Given the description of an element on the screen output the (x, y) to click on. 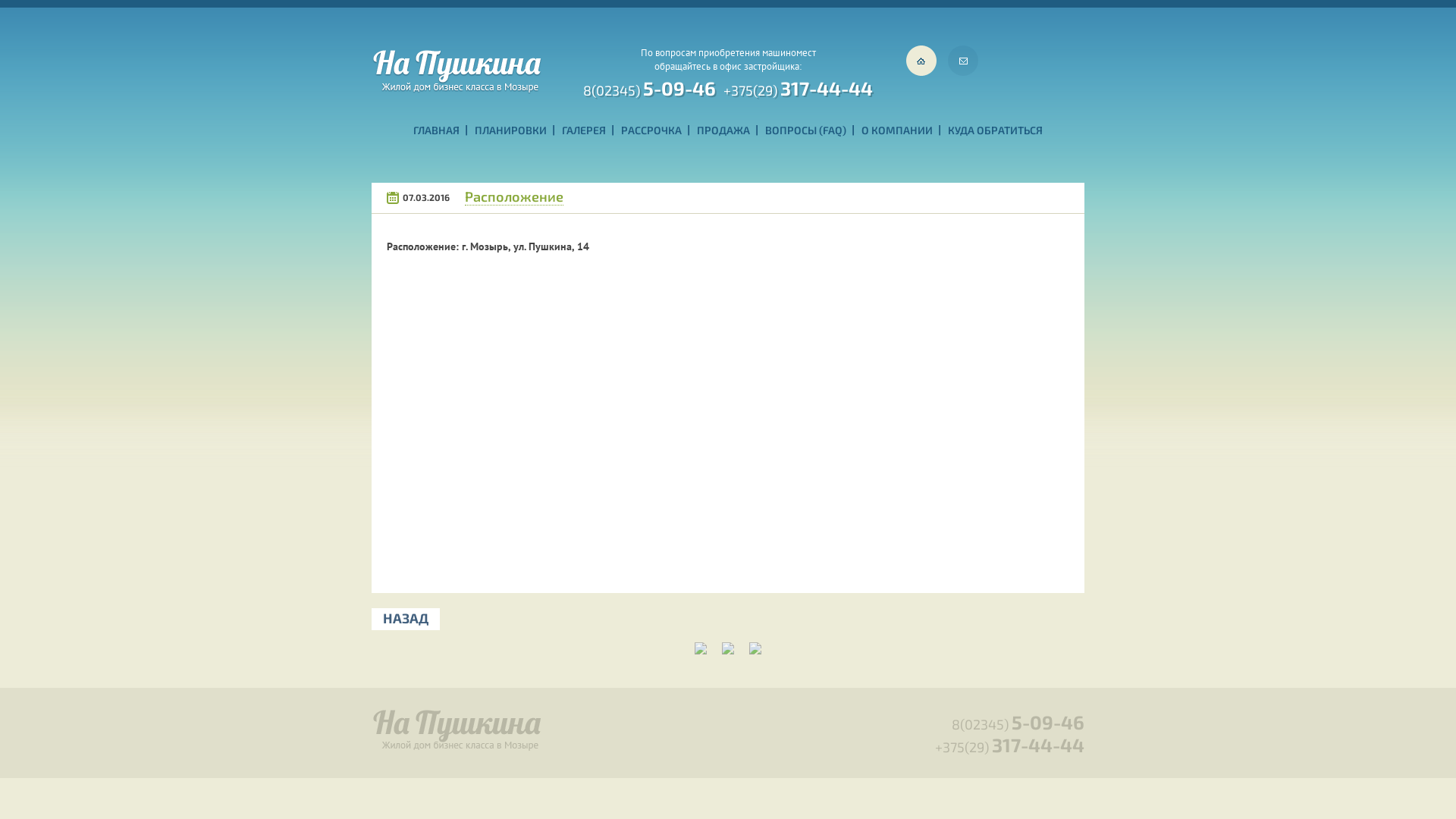
8(02345) 5-09-46 Element type: text (1017, 723)
8(02345) 5-09-46 Element type: text (649, 85)
+375(29) 317-44-44 Element type: text (797, 85)
+375(29) 317-44-44 Element type: text (1009, 746)
